Given the description of an element on the screen output the (x, y) to click on. 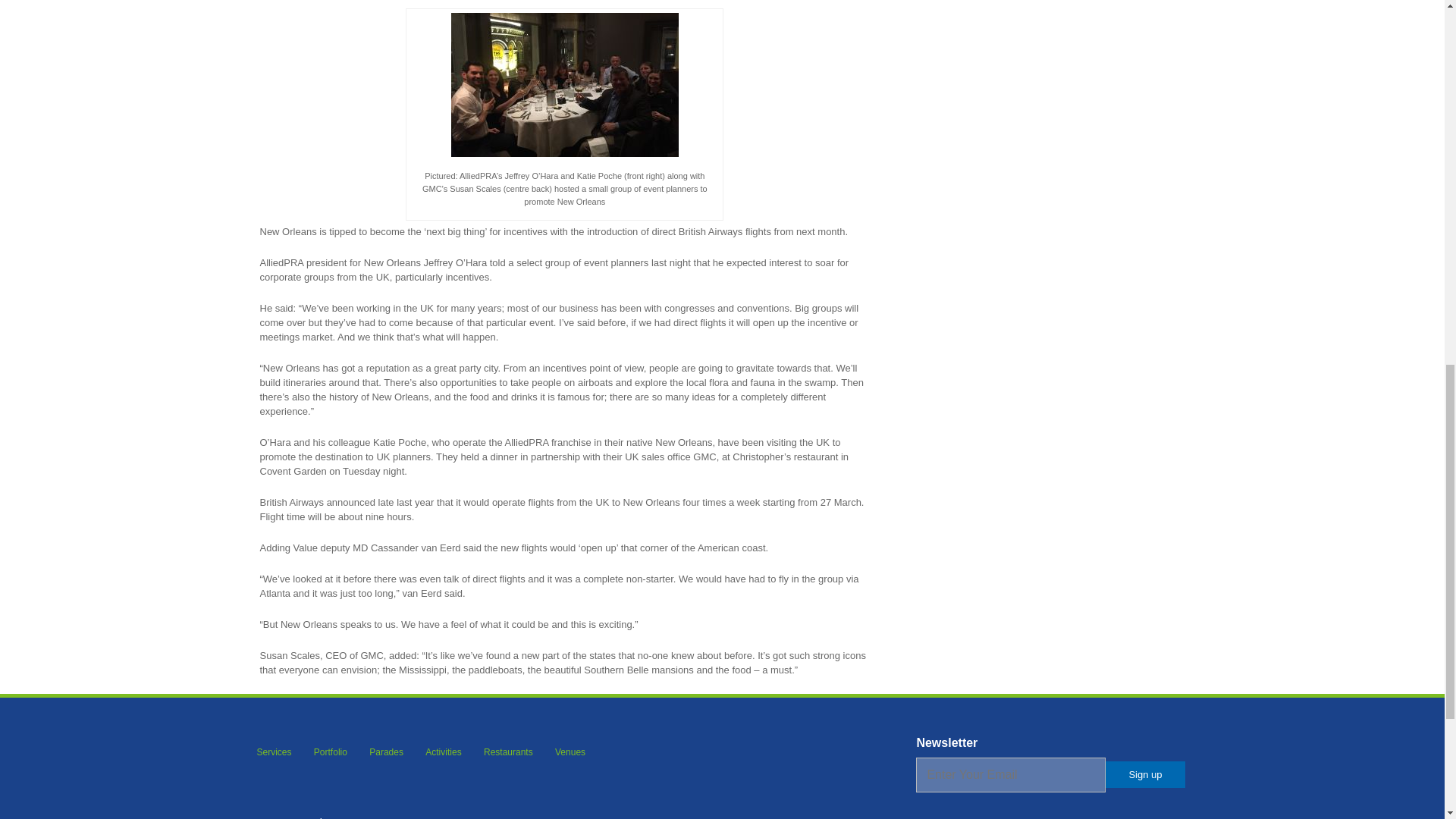
Parades (386, 751)
Portfolio (330, 751)
Sign up (1145, 774)
Activities (443, 751)
Restaurants (507, 751)
Venues (569, 751)
Sign up (1145, 774)
Services (273, 751)
